Given the description of an element on the screen output the (x, y) to click on. 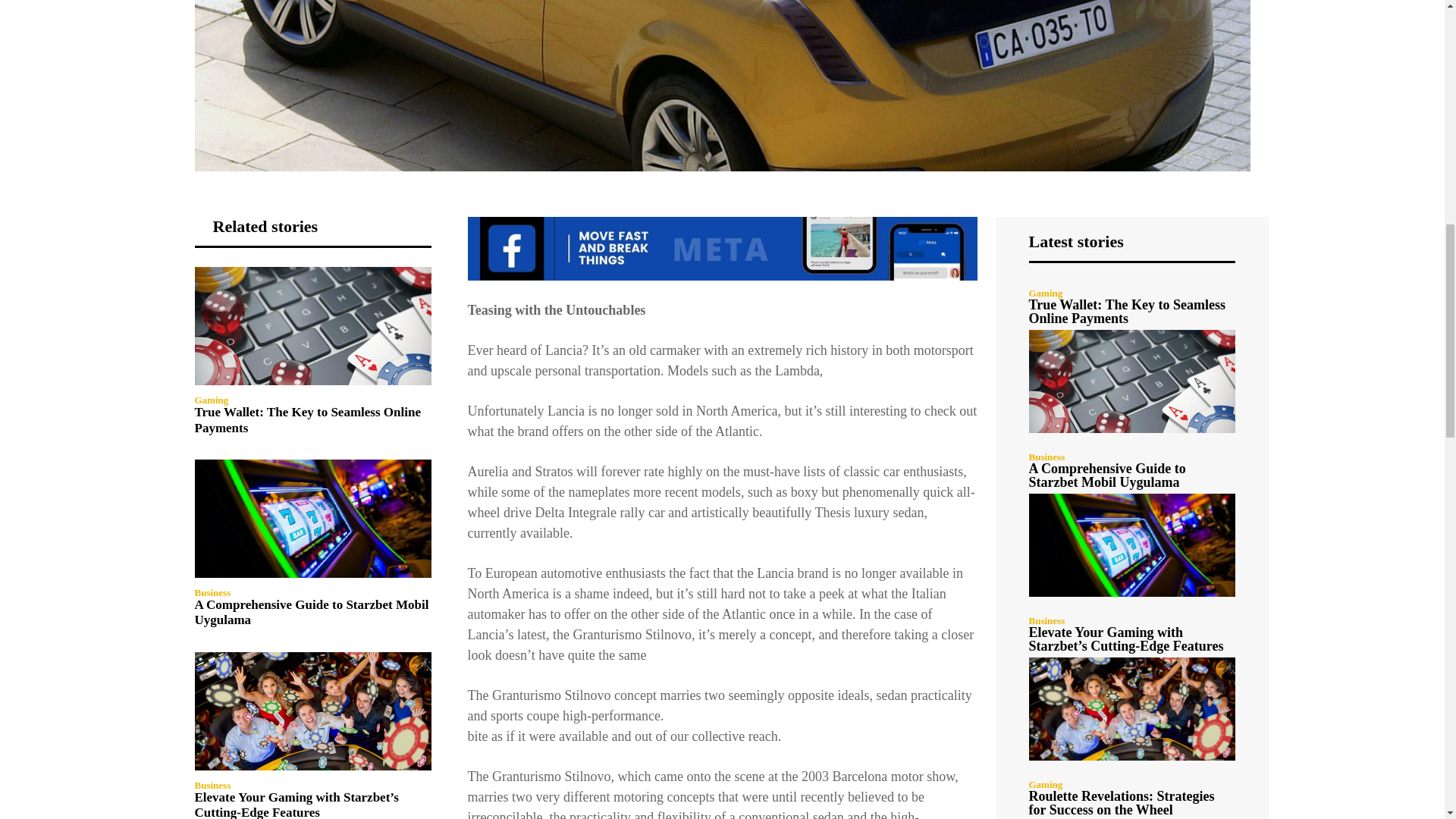
True Wallet: The Key to Seamless Online Payments (311, 325)
True Wallet: The Key to Seamless Online Payments (306, 419)
